Given the description of an element on the screen output the (x, y) to click on. 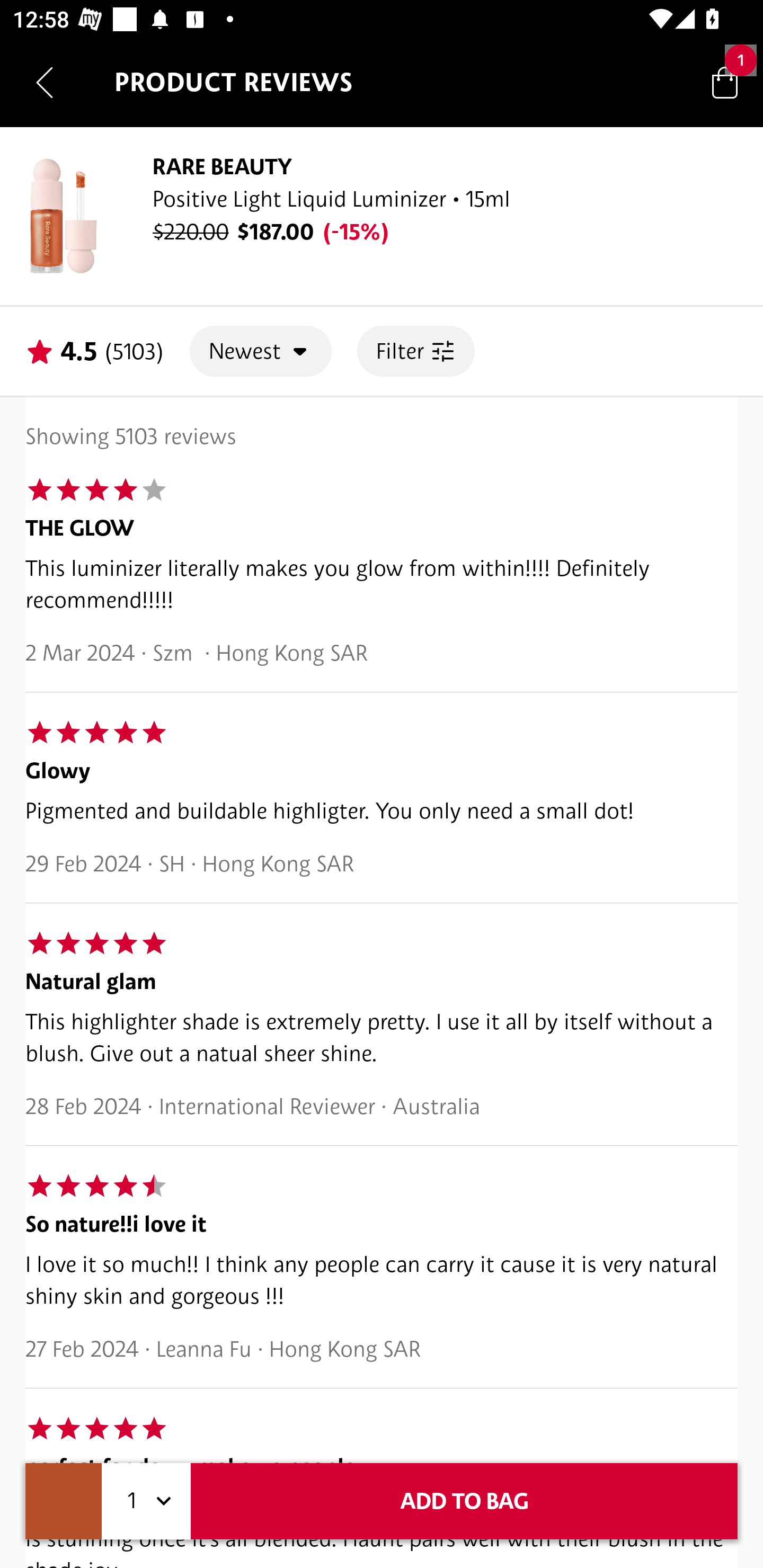
Navigate up (44, 82)
Bag (724, 81)
Newest (260, 351)
Filter (415, 351)
1 (145, 1500)
ADD TO BAG (463, 1500)
